Given the description of an element on the screen output the (x, y) to click on. 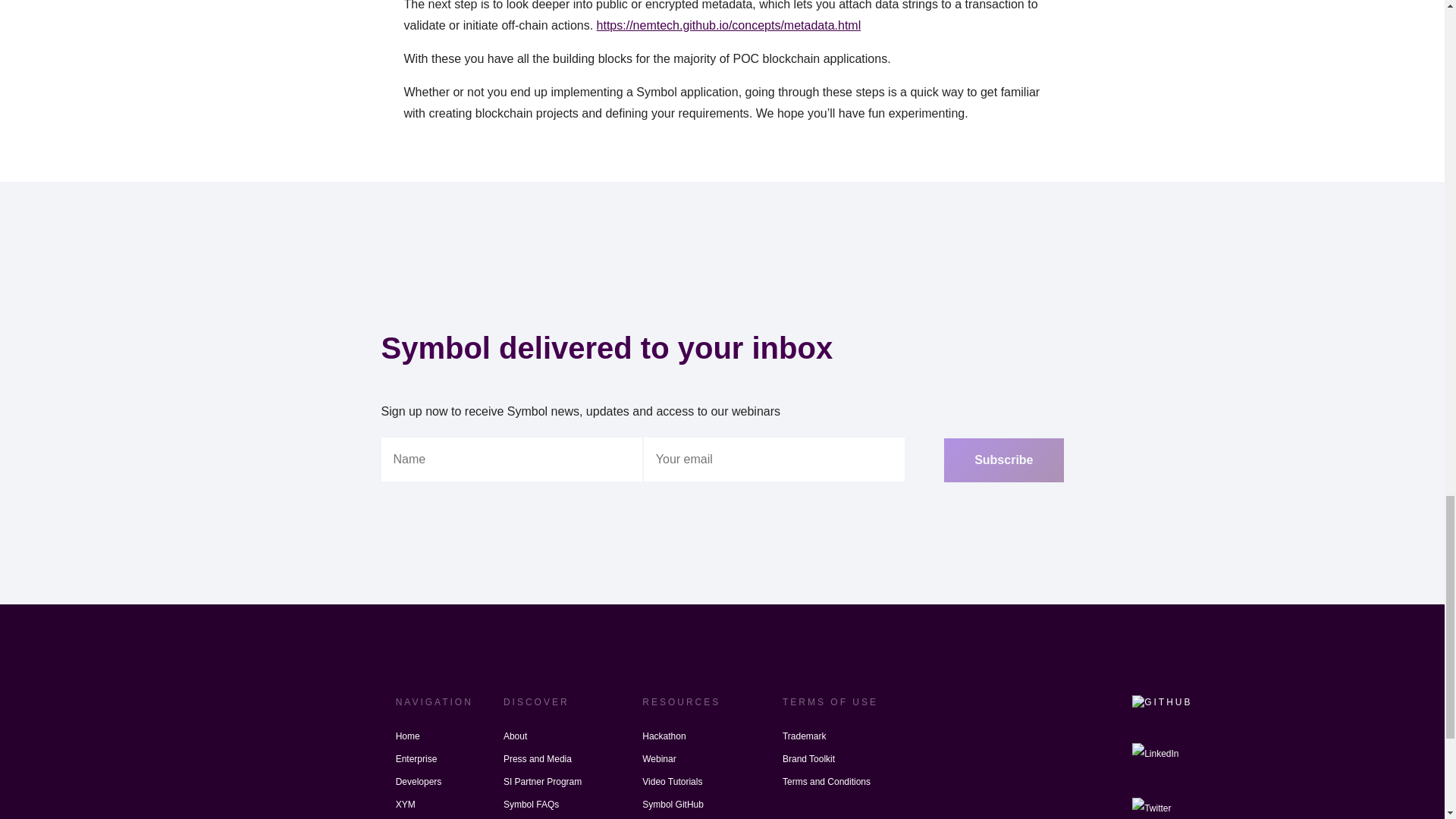
NEM Blog (523, 817)
Webinar (658, 758)
Hackathon (663, 735)
Brand Toolkit (808, 758)
Developers (419, 781)
Home (408, 735)
Symbol GitHub (672, 803)
Latest (408, 817)
Video Tutorials (671, 781)
Press and Media (537, 758)
